Given the description of an element on the screen output the (x, y) to click on. 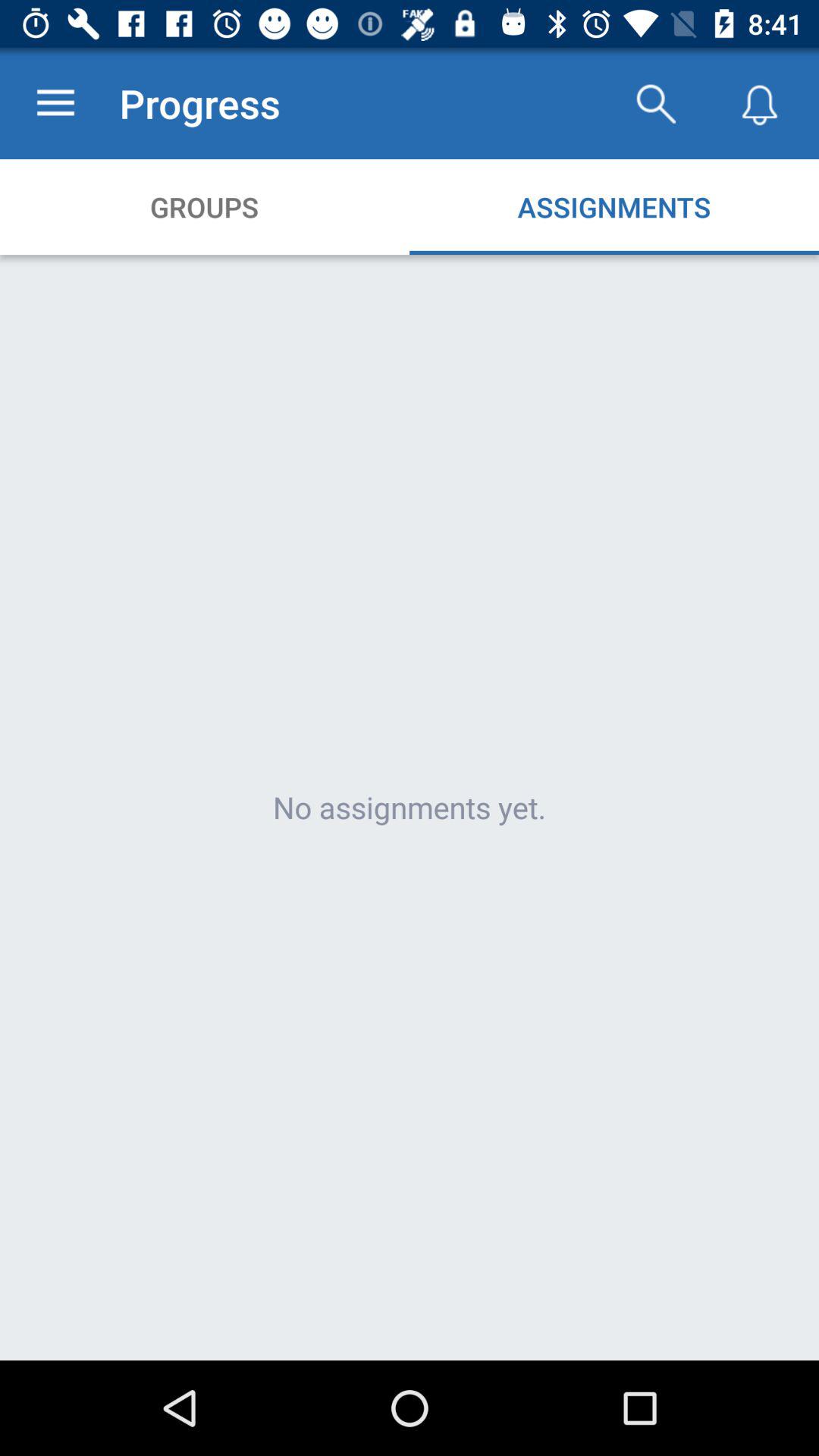
press icon to the left of progress (55, 103)
